Given the description of an element on the screen output the (x, y) to click on. 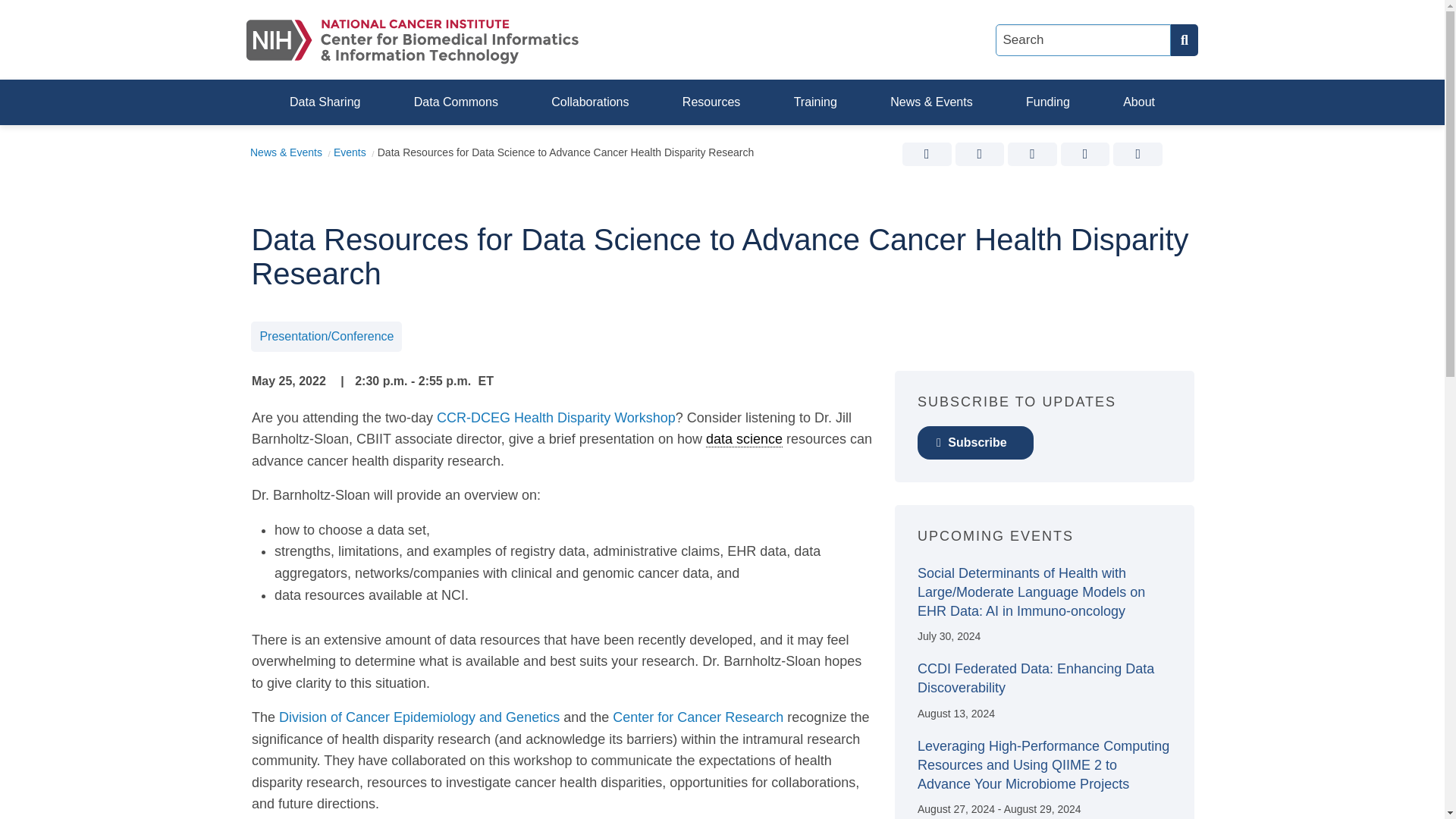
Training (815, 101)
